Given the description of an element on the screen output the (x, y) to click on. 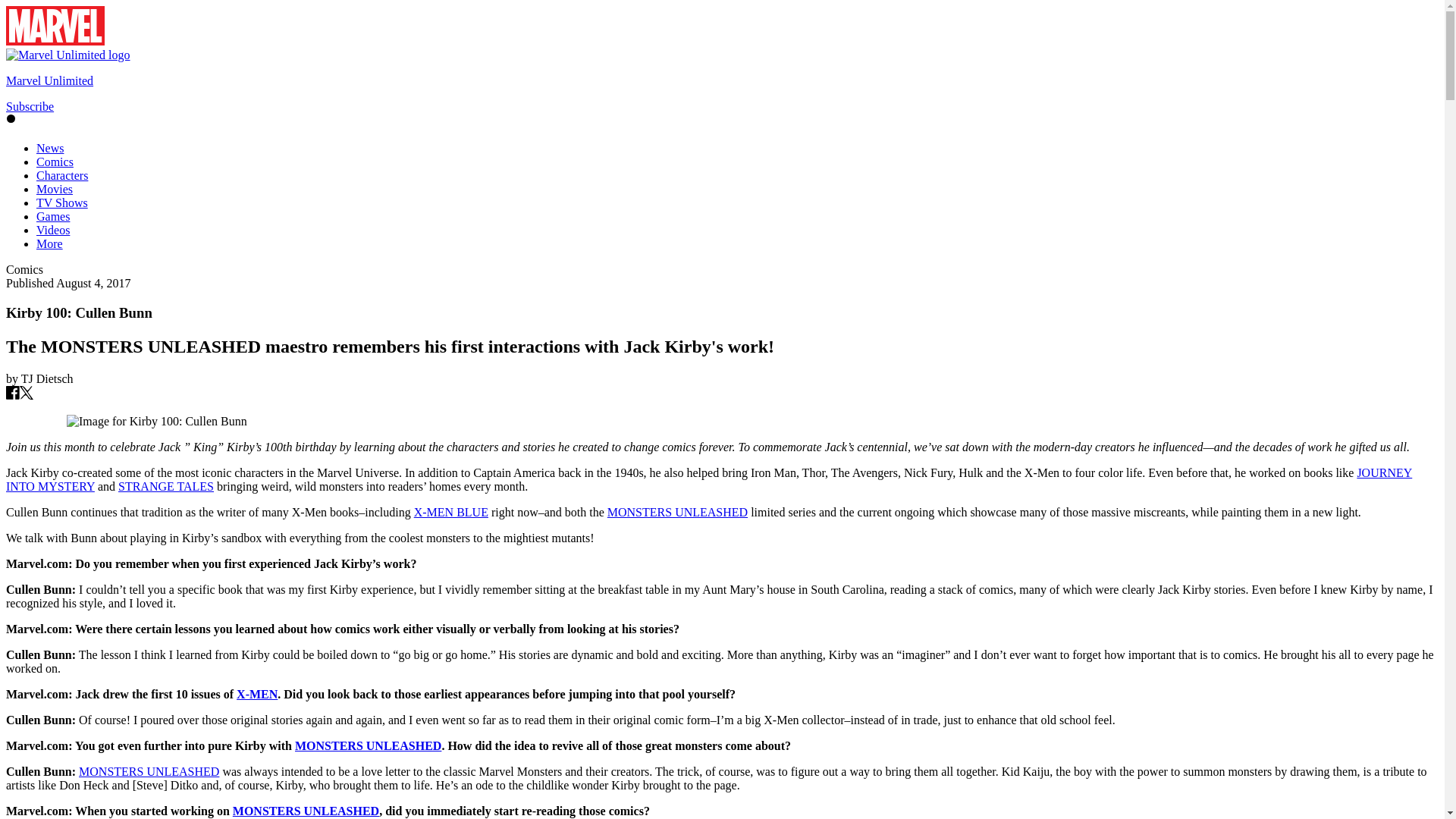
Comics (55, 161)
Characters (61, 174)
X-MEN BLUE (450, 512)
MONSTERS UNLEASHED (677, 512)
TV Shows (61, 202)
X-MEN (256, 694)
More (49, 243)
STRANGE TALES (165, 486)
MONSTERS UNLEASHED (368, 745)
MONSTERS UNLEASHED (305, 810)
